Given the description of an element on the screen output the (x, y) to click on. 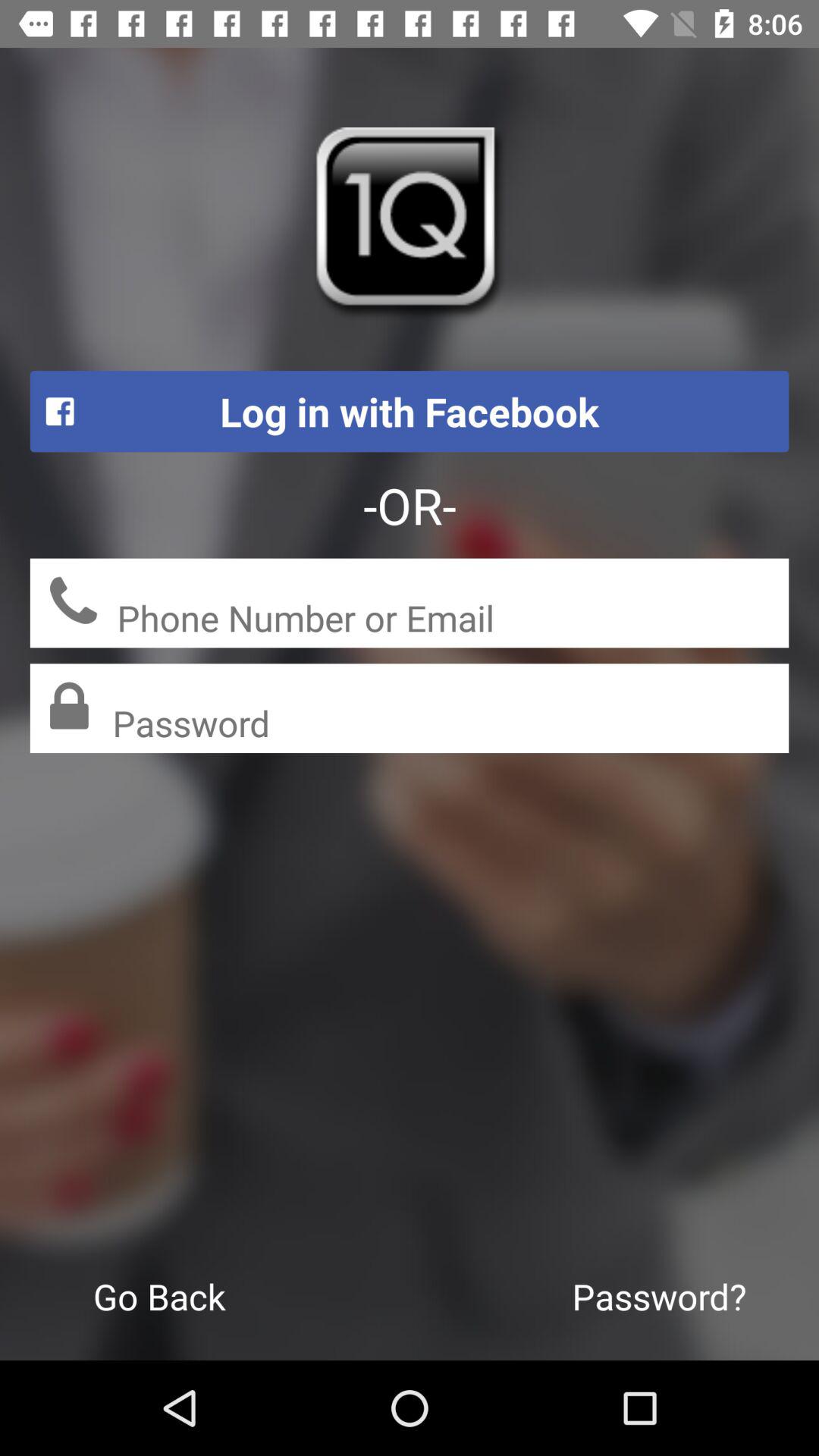
choose icon to the left of the password? icon (159, 1296)
